Given the description of an element on the screen output the (x, y) to click on. 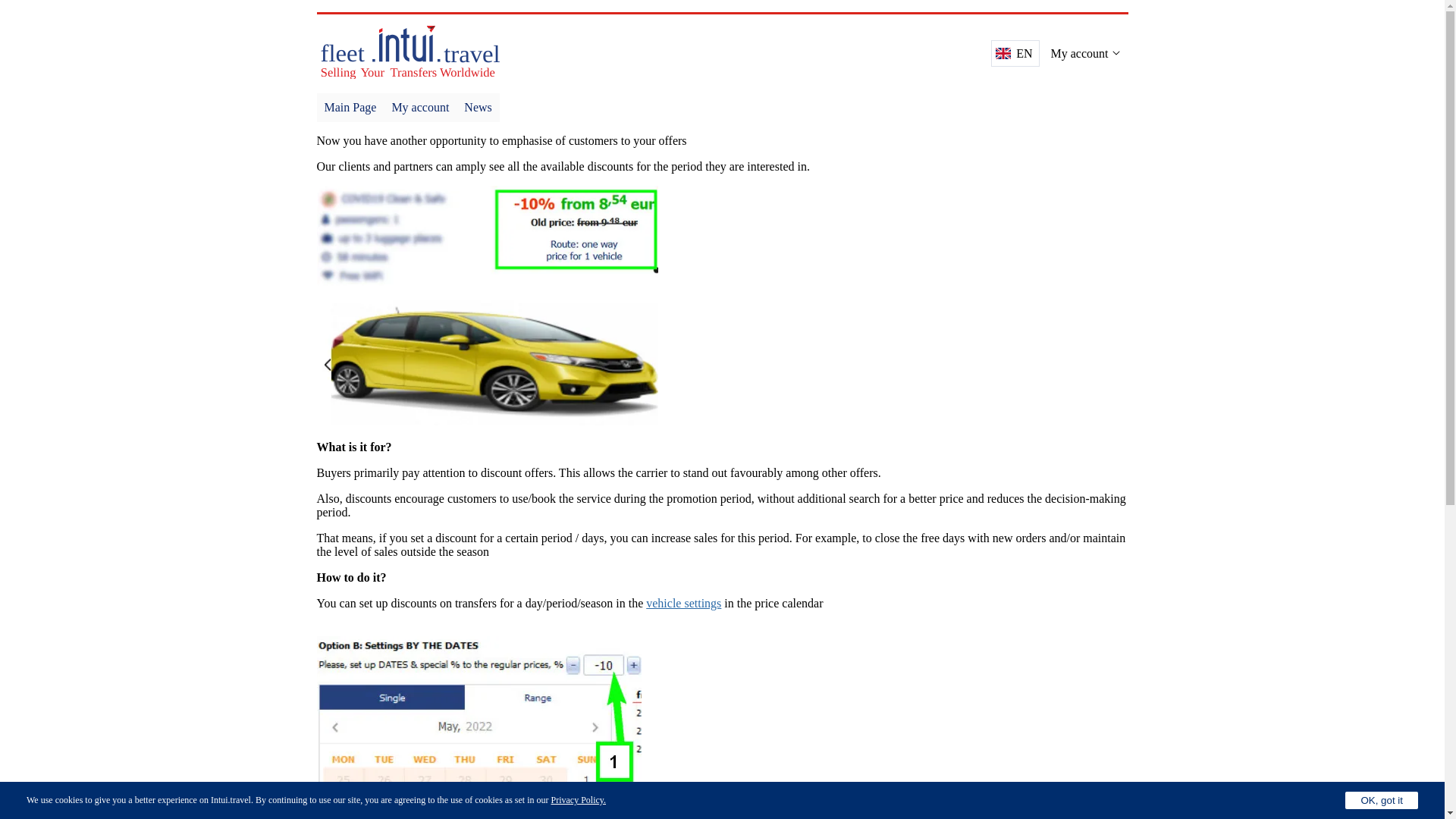
OK, got it (1381, 800)
Main Page (350, 107)
Main Page (350, 107)
News (477, 107)
Privacy Policy (577, 799)
vehicle settings (683, 603)
News (477, 107)
My account (419, 107)
My account (419, 107)
